Given the description of an element on the screen output the (x, y) to click on. 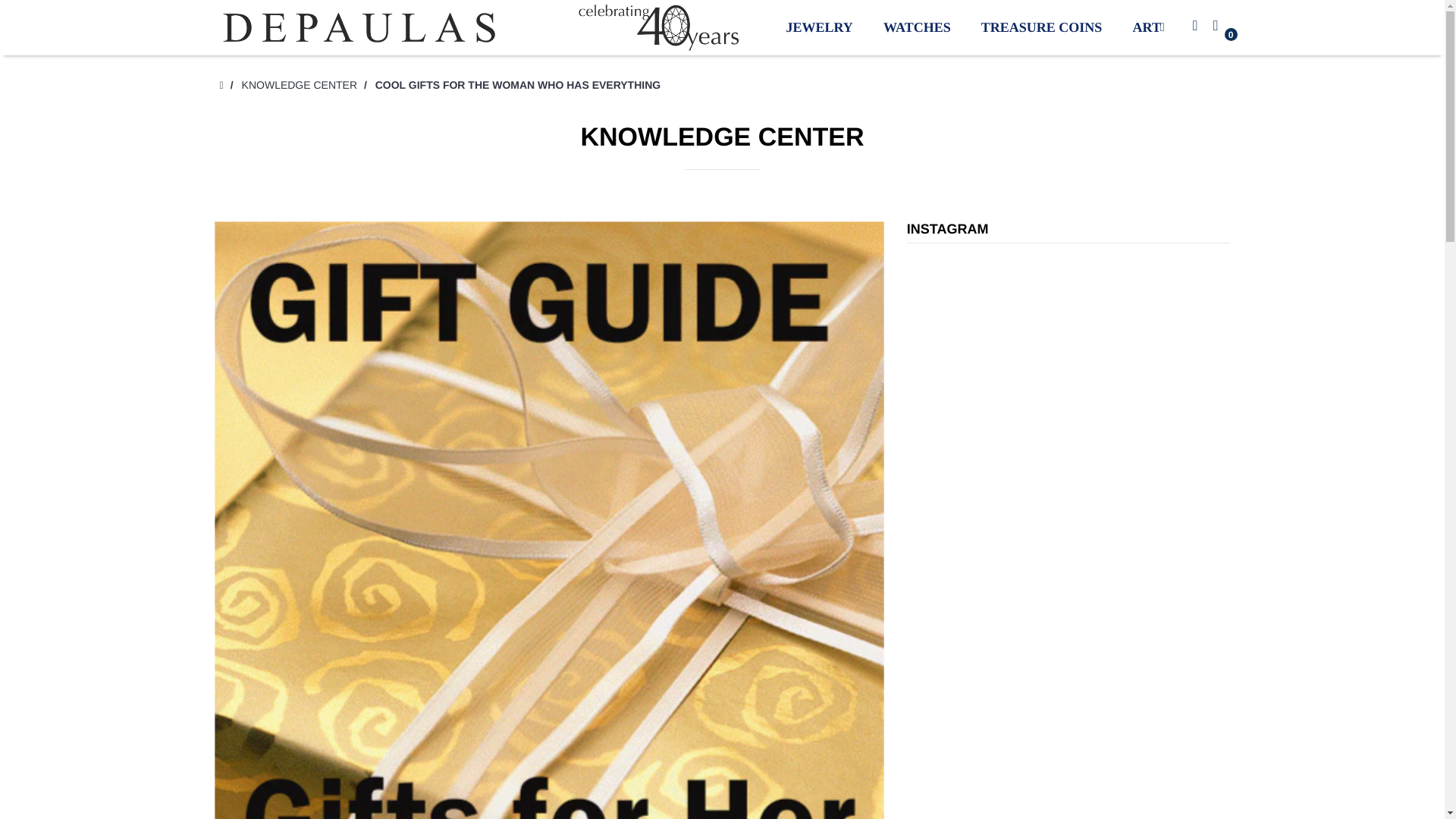
Logo (480, 27)
